Given the description of an element on the screen output the (x, y) to click on. 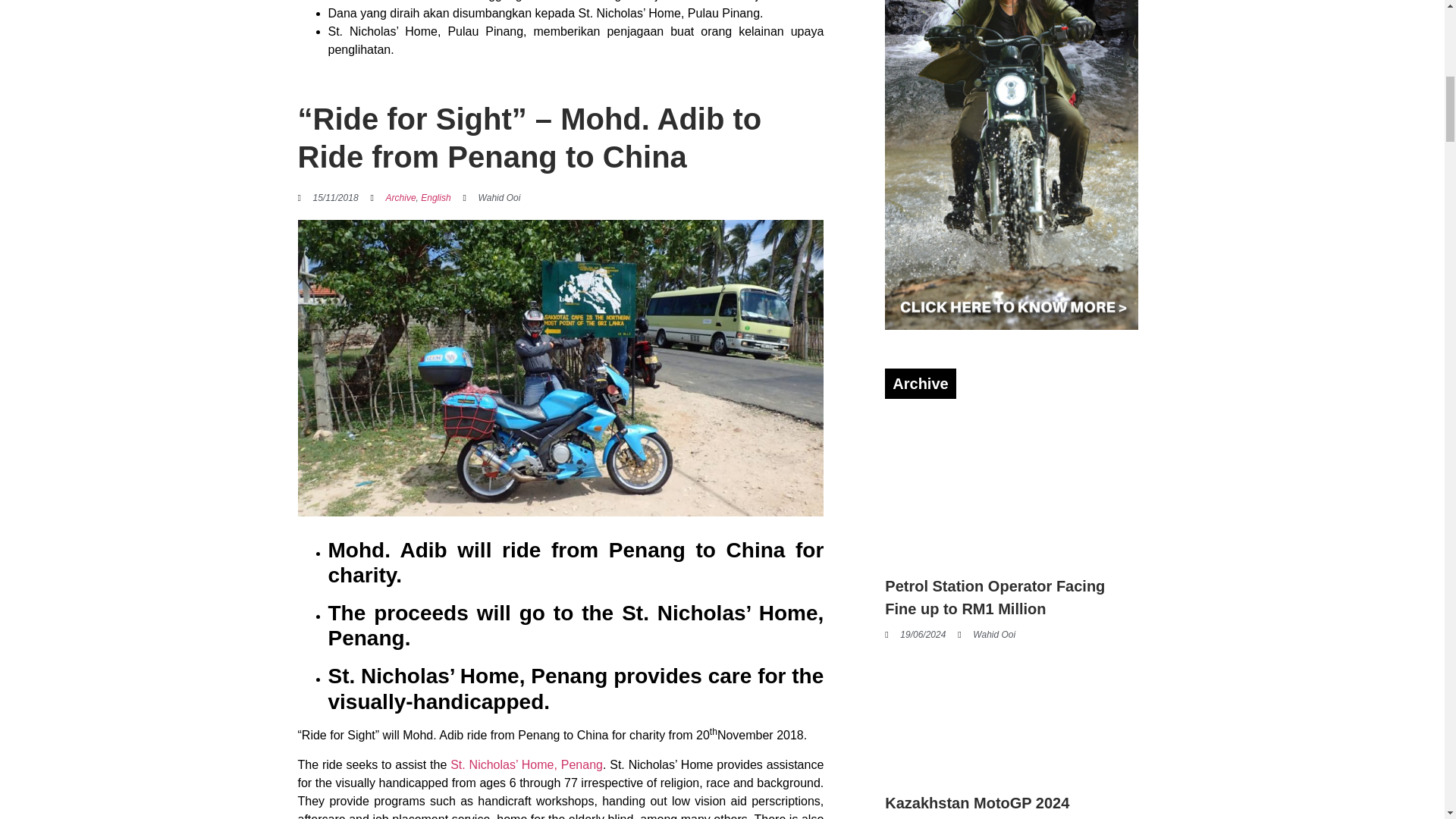
Wahid Ooi (492, 197)
English (434, 197)
Archive (400, 197)
